Given the description of an element on the screen output the (x, y) to click on. 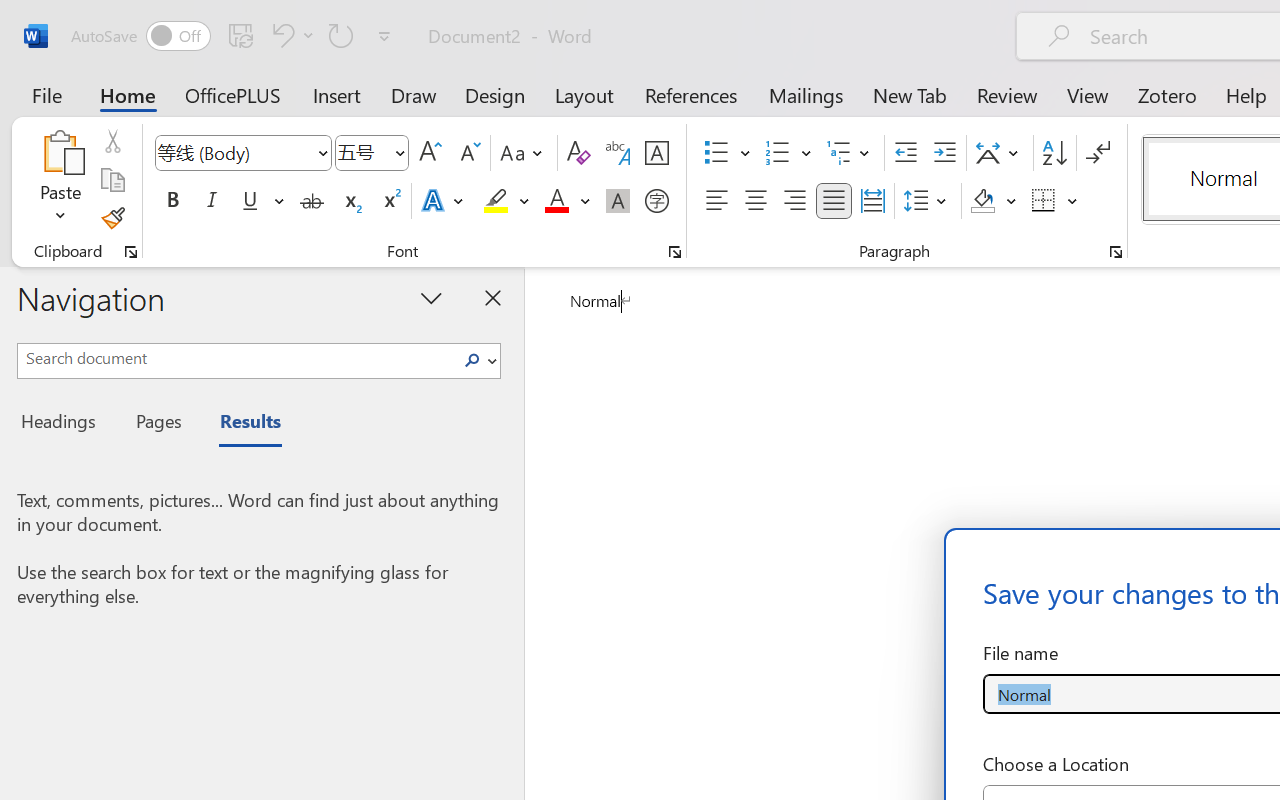
Review (1007, 94)
Superscript (390, 201)
Office Clipboard... (131, 252)
Line and Paragraph Spacing (927, 201)
Search (478, 360)
Align Left (716, 201)
Subscript (350, 201)
